Given the description of an element on the screen output the (x, y) to click on. 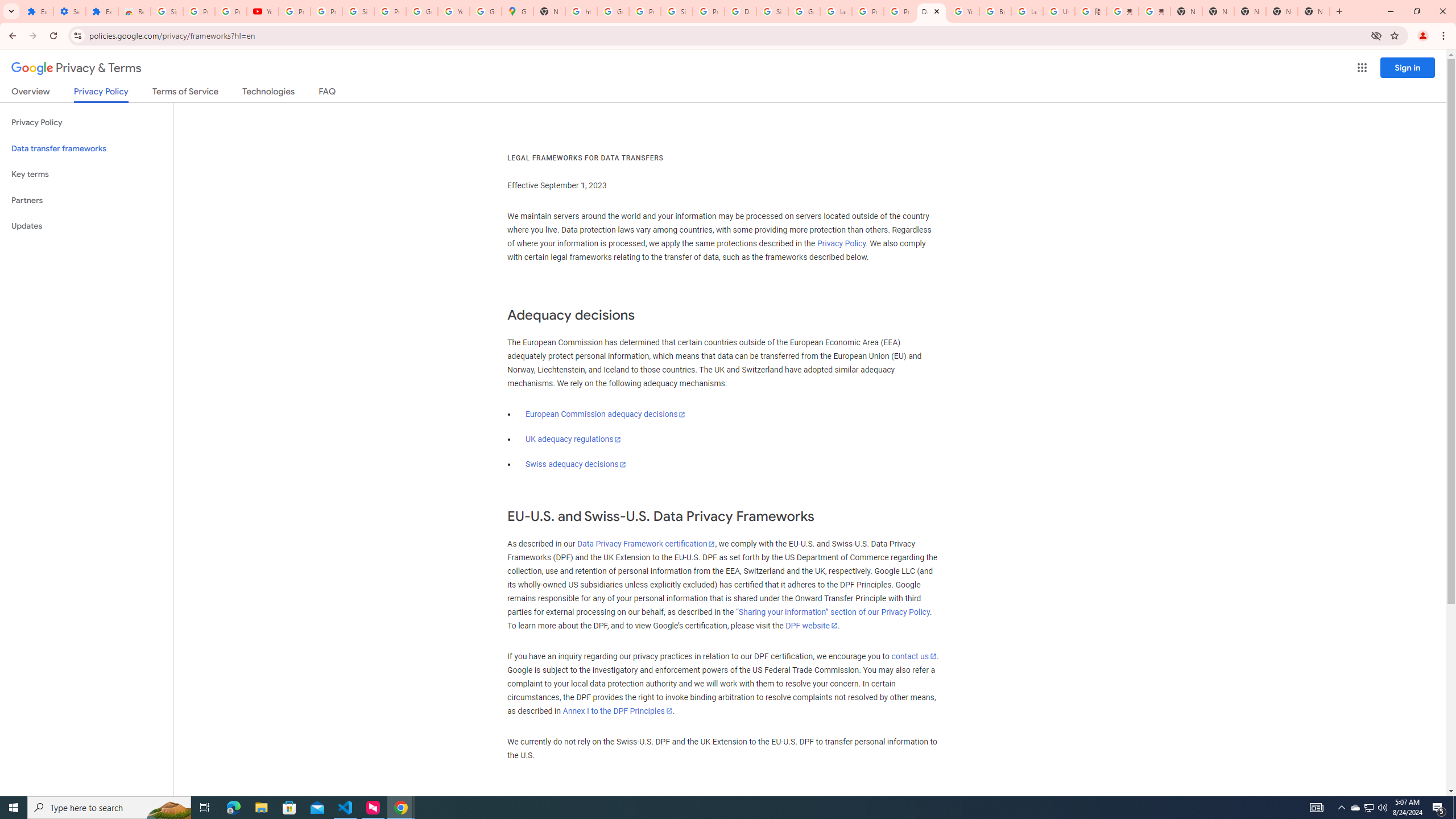
Data Privacy Framework certification (645, 543)
YouTube (262, 11)
New Tab (1185, 11)
DPF website (810, 625)
